Given the description of an element on the screen output the (x, y) to click on. 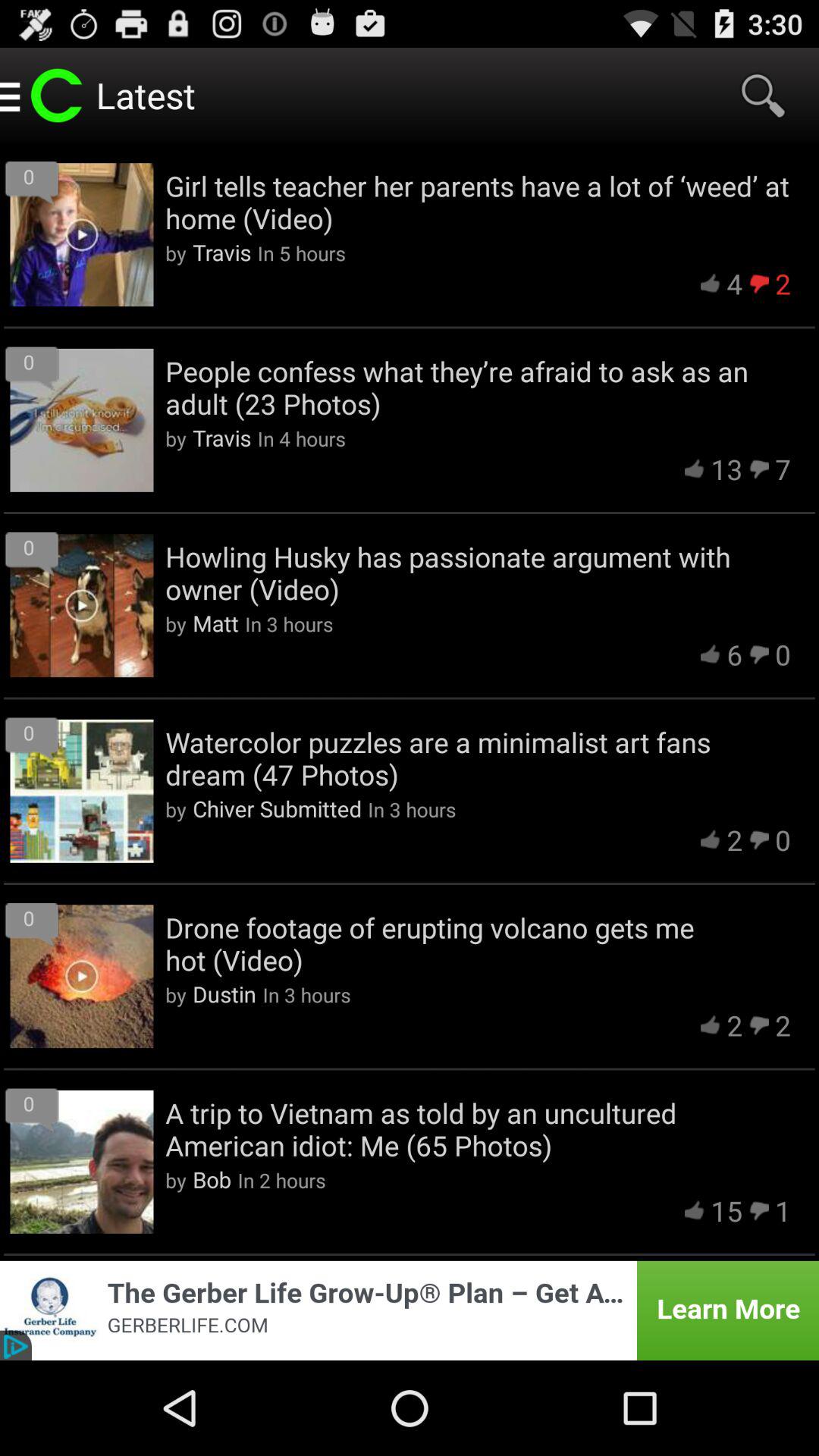
open the icon next to by item (224, 993)
